Given the description of an element on the screen output the (x, y) to click on. 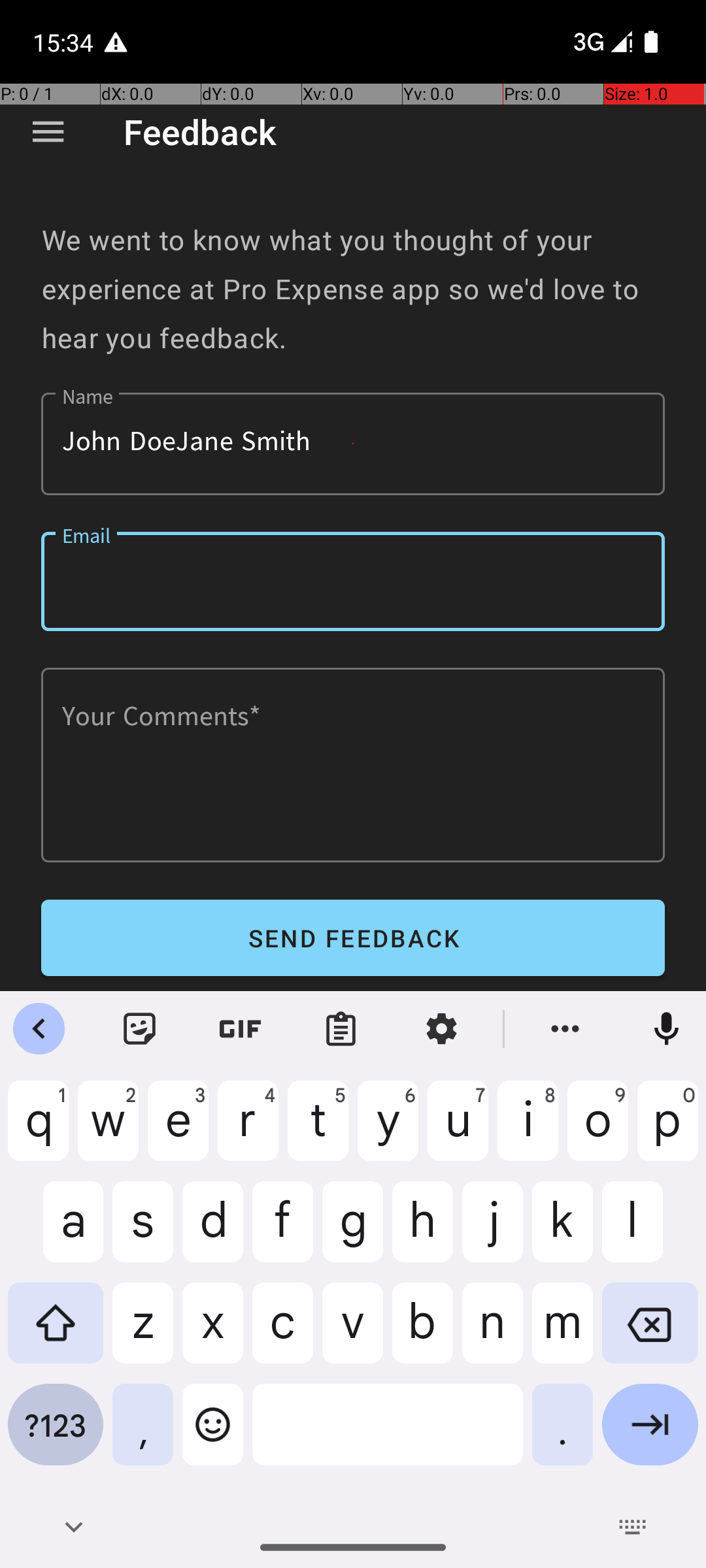
Feedback Element type: android.widget.TextView (200, 131)
We went to know what you thought of your experience at Pro Expense app so we'd love to hear you feedback. Element type: android.widget.TextView (352, 288)
John DoeJane Smith Element type: android.widget.EditText (352, 443)
Email Element type: android.widget.EditText (352, 581)
Your Comments* Element type: android.widget.EditText (352, 764)
SEND FEEDBACK Element type: android.widget.Button (352, 937)
Close features menu Element type: android.widget.FrameLayout (39, 1028)
Sticker Keyboard Element type: android.widget.FrameLayout (139, 1028)
GIF Keyboard Element type: android.widget.FrameLayout (240, 1028)
Clipboard Element type: android.widget.FrameLayout (340, 1028)
More features Element type: android.widget.FrameLayout (565, 1028)
